Given the description of an element on the screen output the (x, y) to click on. 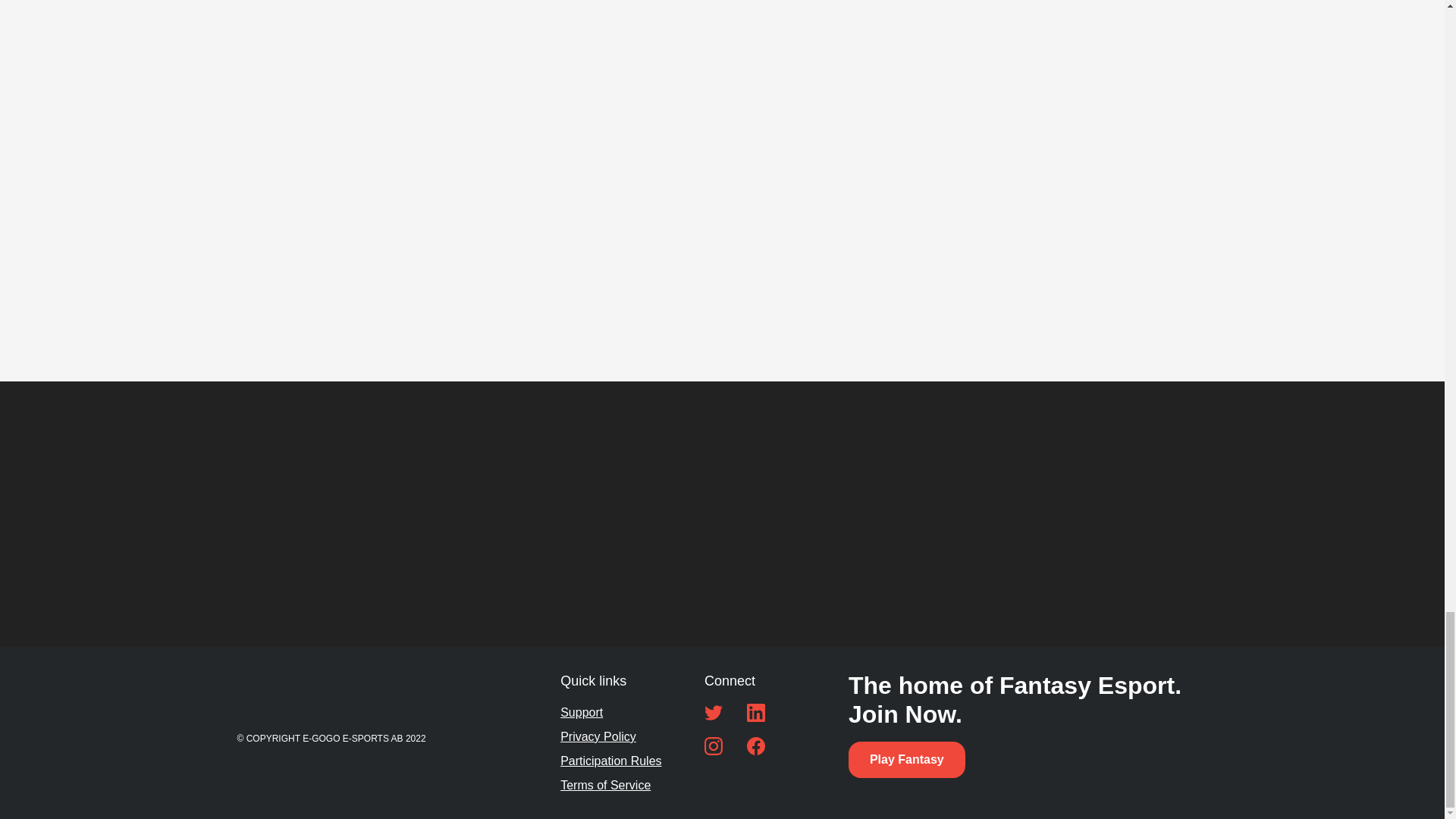
Twitter icon (713, 712)
LinkedIn icon (755, 712)
Play Fantasy (906, 760)
Participation Rules (610, 761)
Facebook icon (755, 746)
Facebook icon (755, 746)
Instagram icon (713, 746)
Instagram icon (713, 746)
Twitter icon (713, 712)
LinkedIn icon (755, 712)
Support (581, 712)
Privacy Policy (598, 737)
Terms of Service (605, 785)
